Given the description of an element on the screen output the (x, y) to click on. 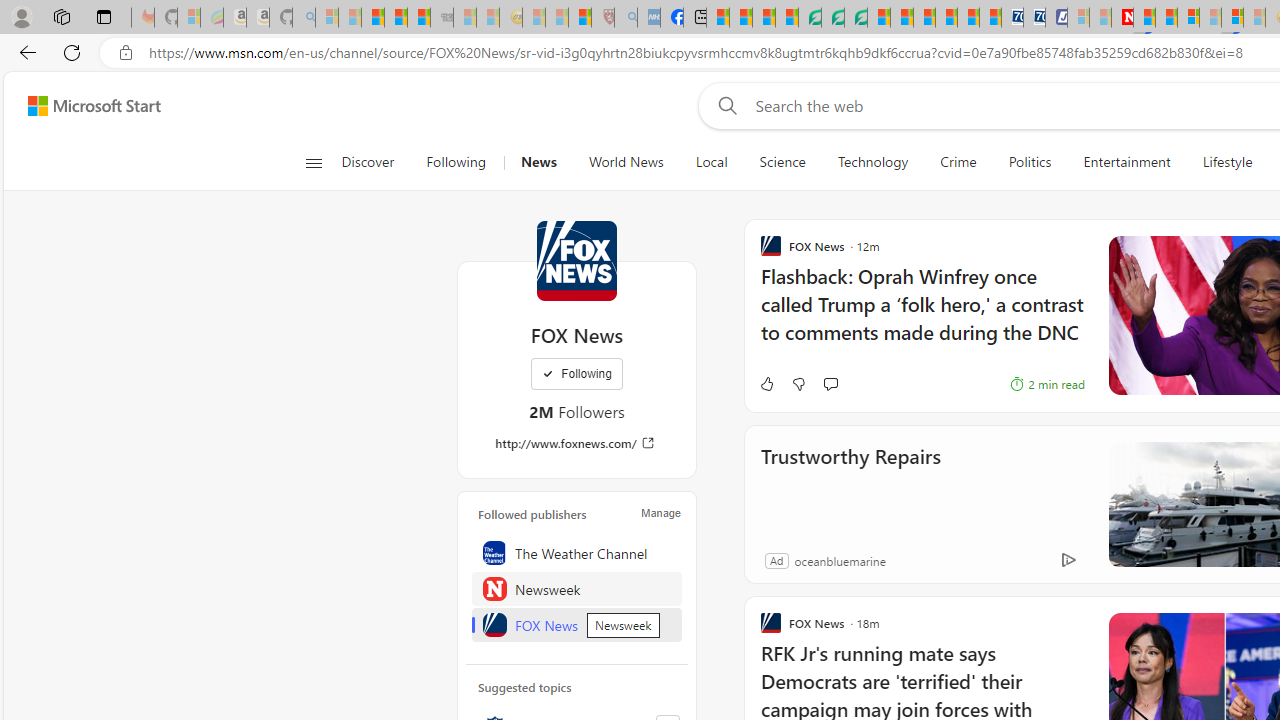
Local - MSN (580, 17)
FOX News (577, 624)
